Given the description of an element on the screen output the (x, y) to click on. 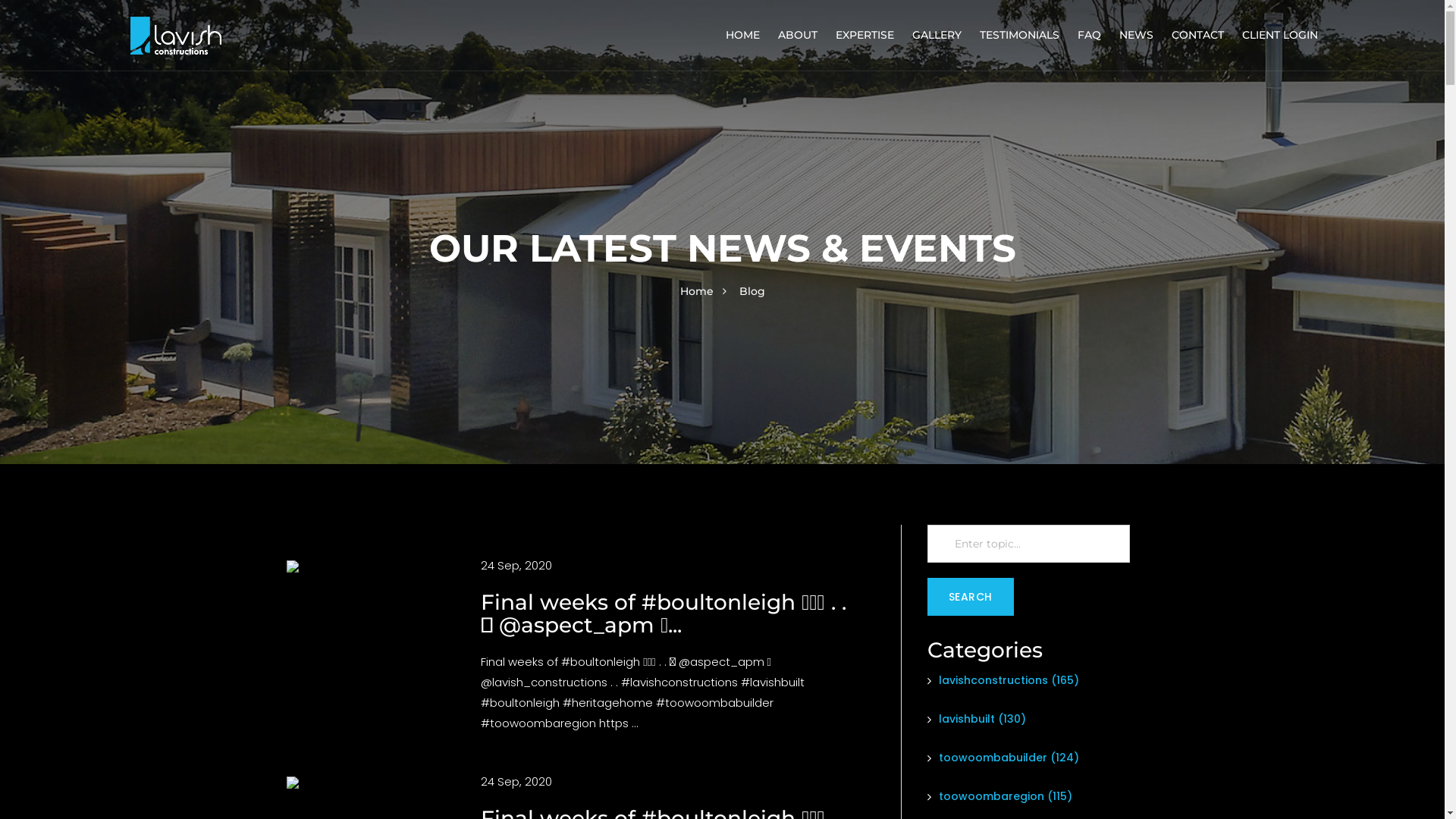
ABOUT Element type: text (797, 34)
EXPERTISE Element type: text (864, 34)
FAQ Element type: text (1089, 34)
lavishconstructions (165) Element type: text (1002, 679)
NEWS Element type: text (1136, 34)
toowoombaregion (115) Element type: text (998, 795)
Home Element type: text (695, 291)
Search Element type: text (969, 596)
GALLERY Element type: text (936, 34)
CLIENT LOGIN Element type: text (1279, 34)
HOME Element type: text (742, 34)
TESTIMONIALS Element type: text (1019, 34)
toowoombabuilder (124) Element type: text (1002, 757)
lavishbuilt (130) Element type: text (975, 718)
CONTACT Element type: text (1197, 34)
